Given the description of an element on the screen output the (x, y) to click on. 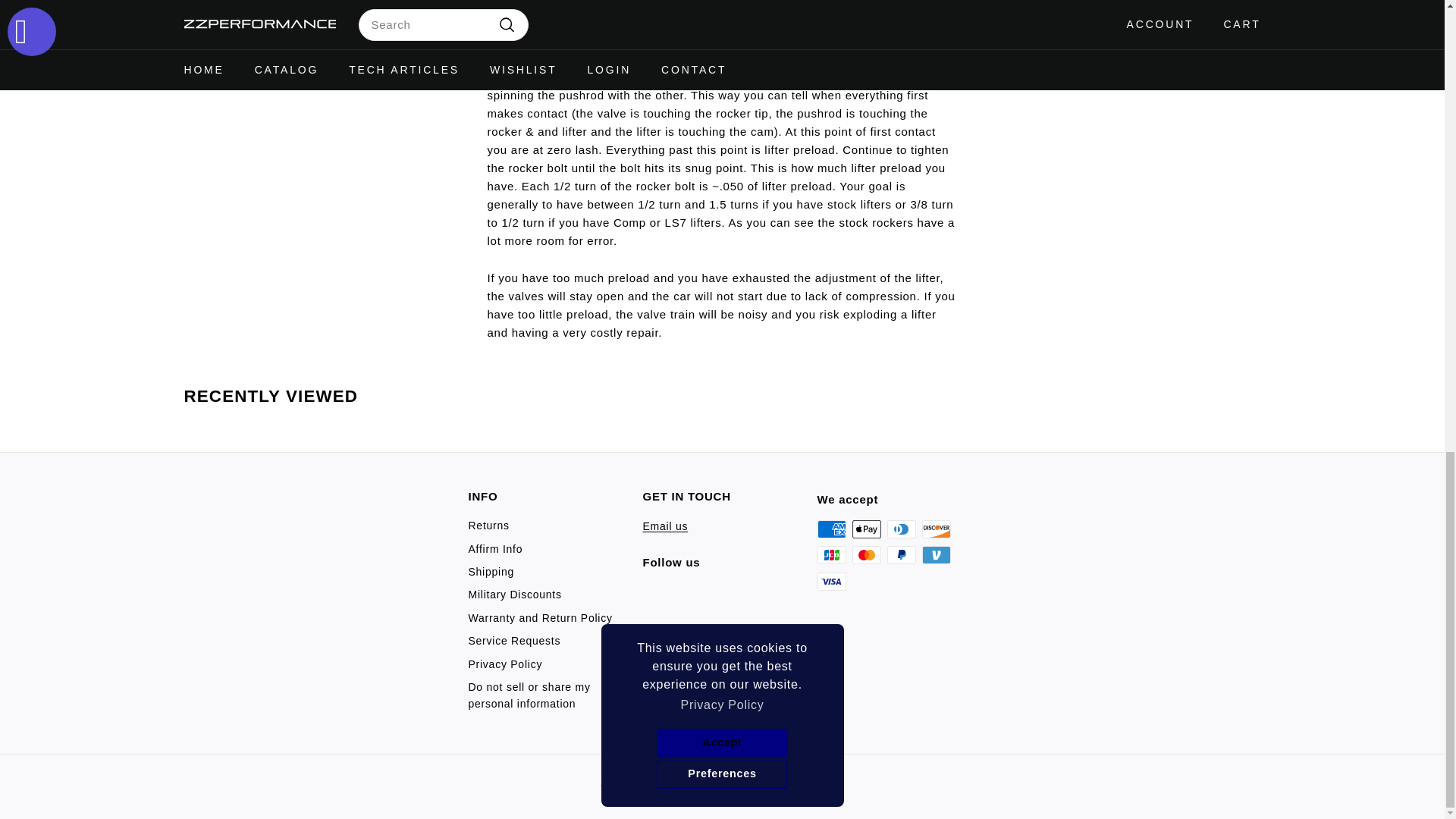
Venmo (935, 555)
Discover (935, 529)
PayPal (900, 555)
Diners Club (900, 529)
JCB (830, 555)
Apple Pay (865, 529)
Mastercard (865, 555)
American Express (830, 529)
Visa (830, 581)
